Given the description of an element on the screen output the (x, y) to click on. 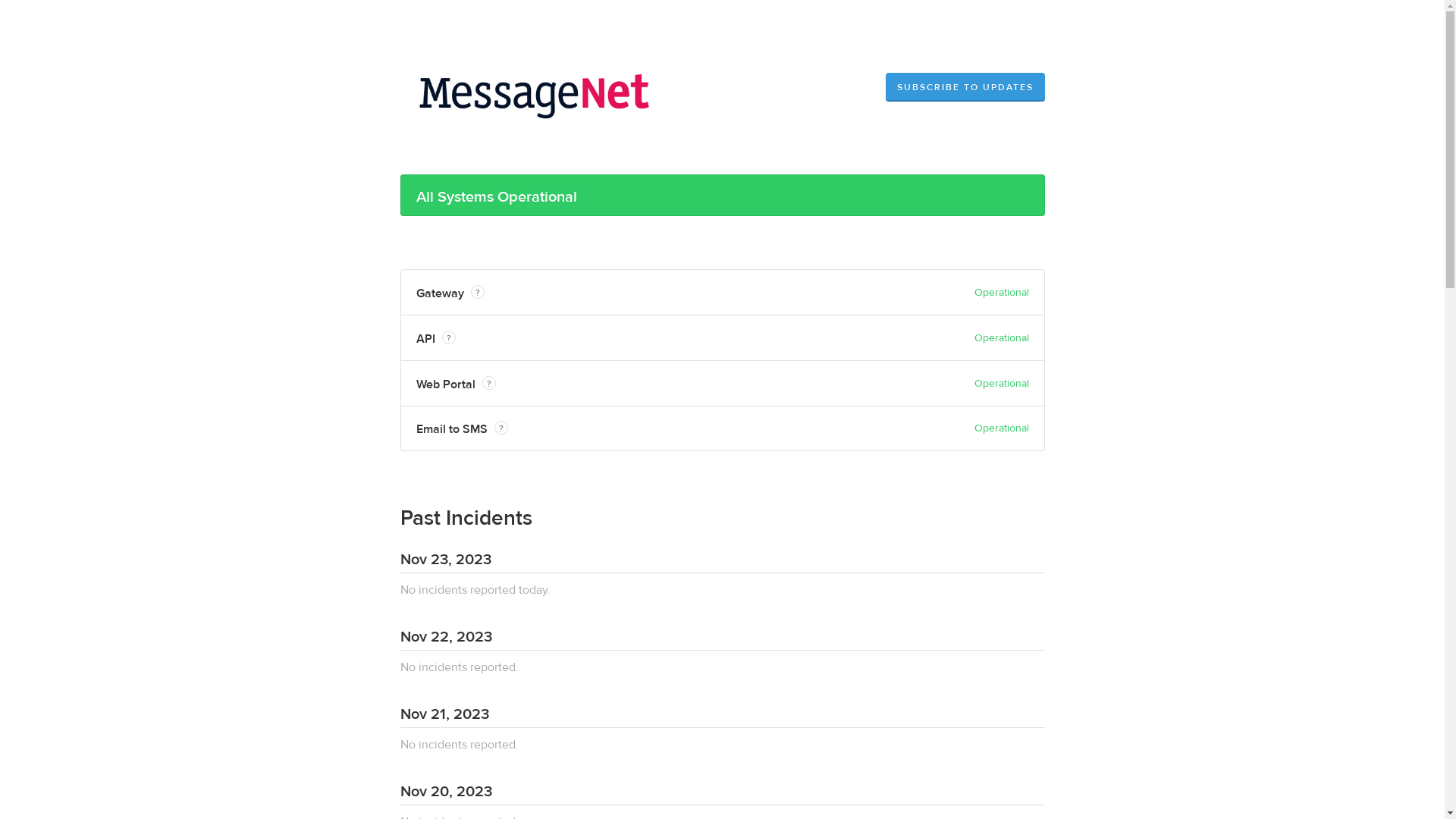
Past Incidents Element type: text (466, 518)
